Given the description of an element on the screen output the (x, y) to click on. 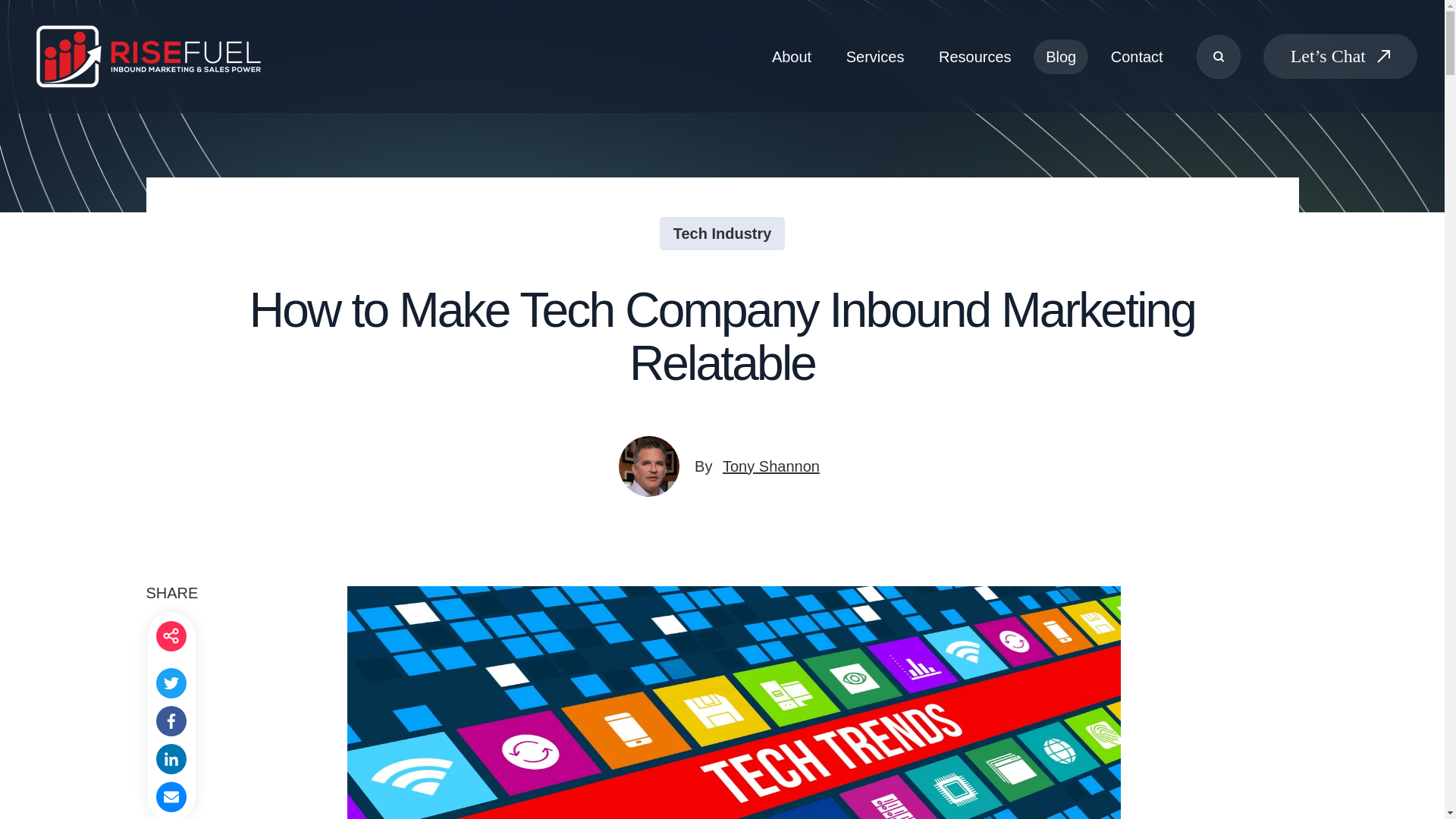
Contact (1136, 56)
Services (875, 56)
About (792, 56)
Blog (1060, 56)
Resources (974, 56)
